Given the description of an element on the screen output the (x, y) to click on. 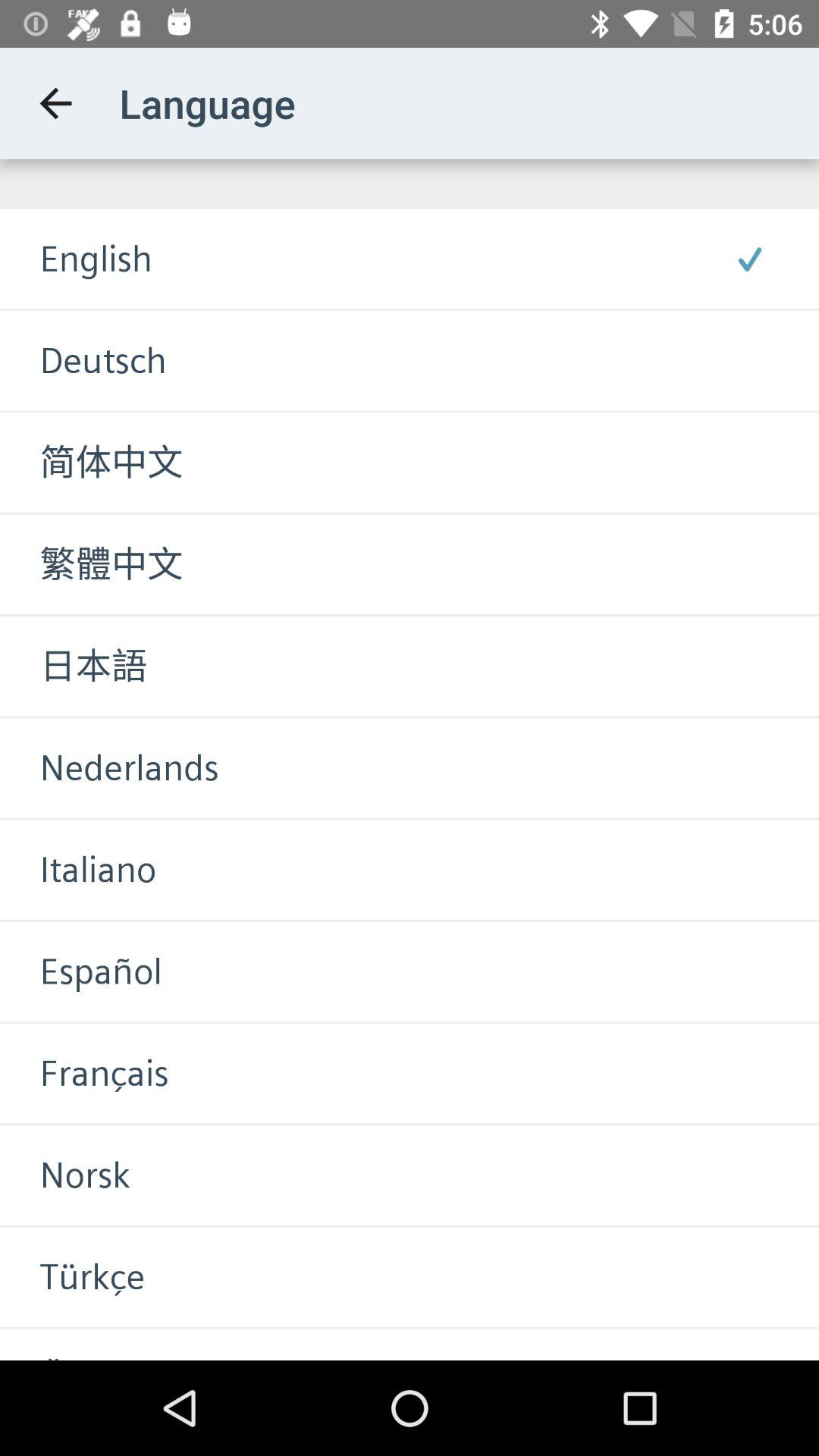
press the item below the deutsch item (91, 462)
